Given the description of an element on the screen output the (x, y) to click on. 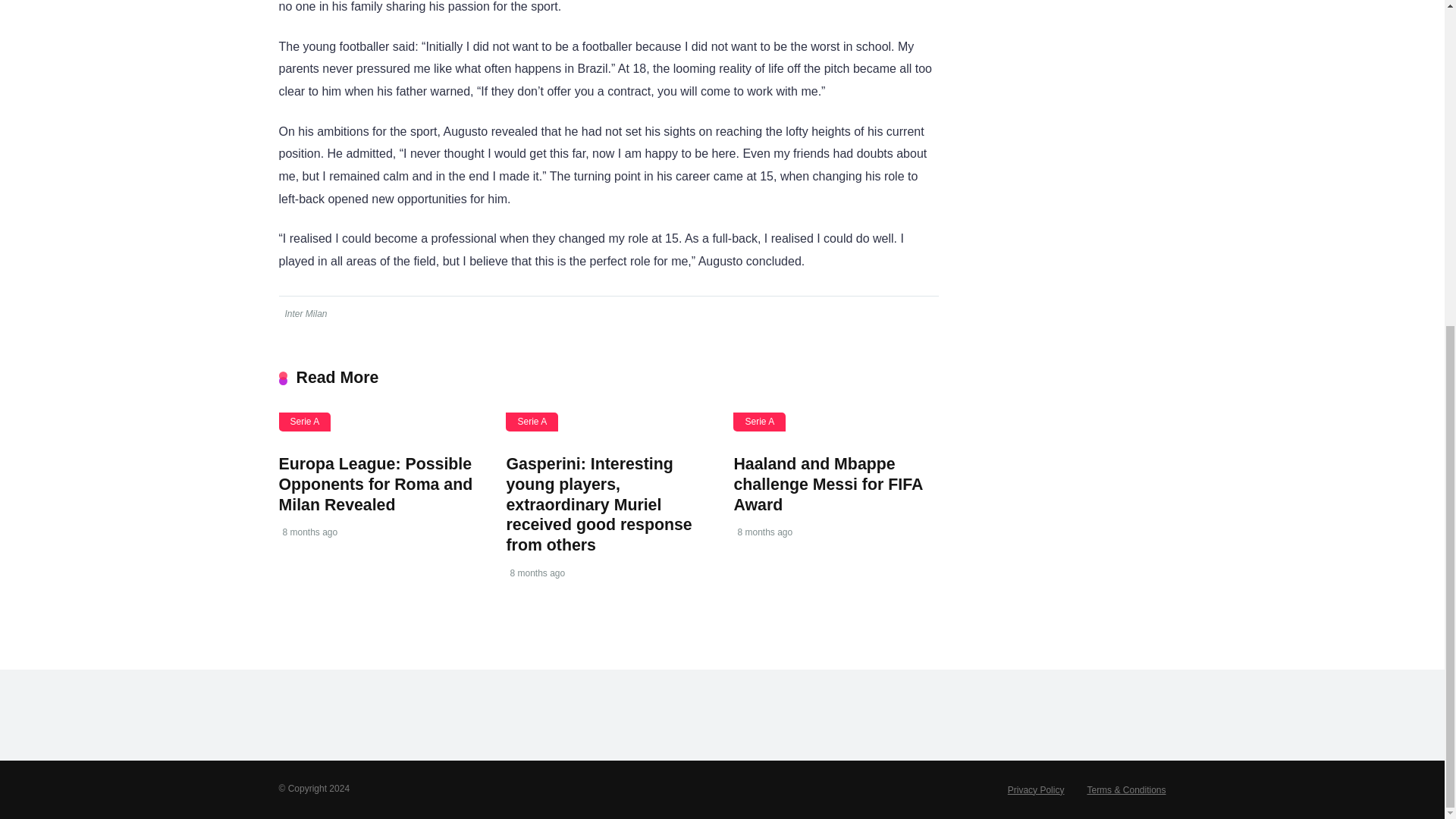
Serie A (305, 421)
Inter Milan (304, 313)
Serie A (531, 421)
Privacy Policy (1035, 789)
Haaland and Mbappe challenge Messi for FIFA Award (827, 484)
Haaland and Mbappe challenge Messi for FIFA Award (827, 484)
Serie A (759, 421)
